Given the description of an element on the screen output the (x, y) to click on. 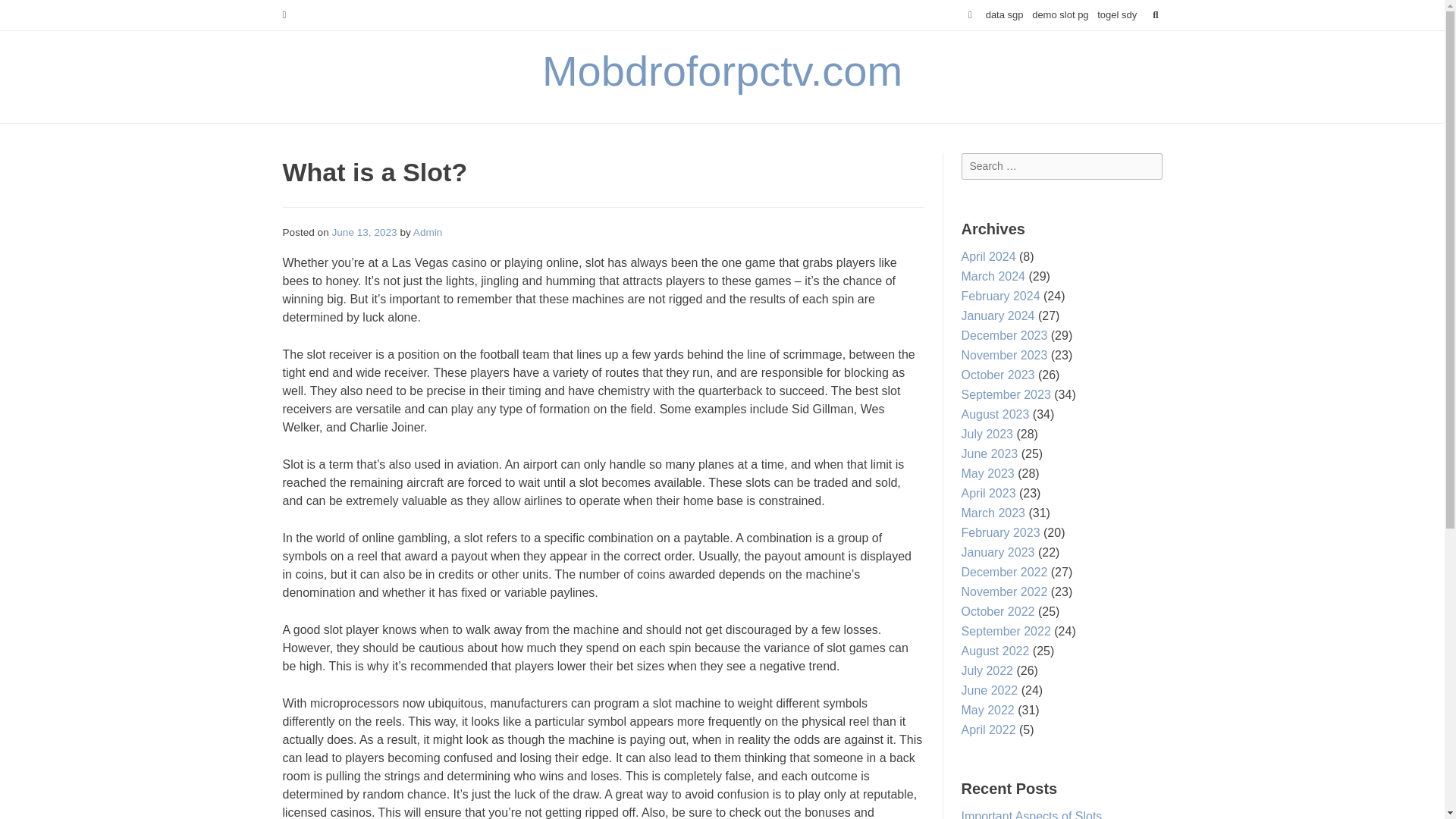
November 2023 (1004, 354)
August 2022 (994, 650)
April 2022 (988, 729)
February 2023 (1000, 532)
Admin (427, 232)
data sgp (1004, 14)
demo slot pg (1059, 14)
June 2022 (988, 689)
Mobdroforpctv.com (721, 70)
August 2023 (994, 413)
